Given the description of an element on the screen output the (x, y) to click on. 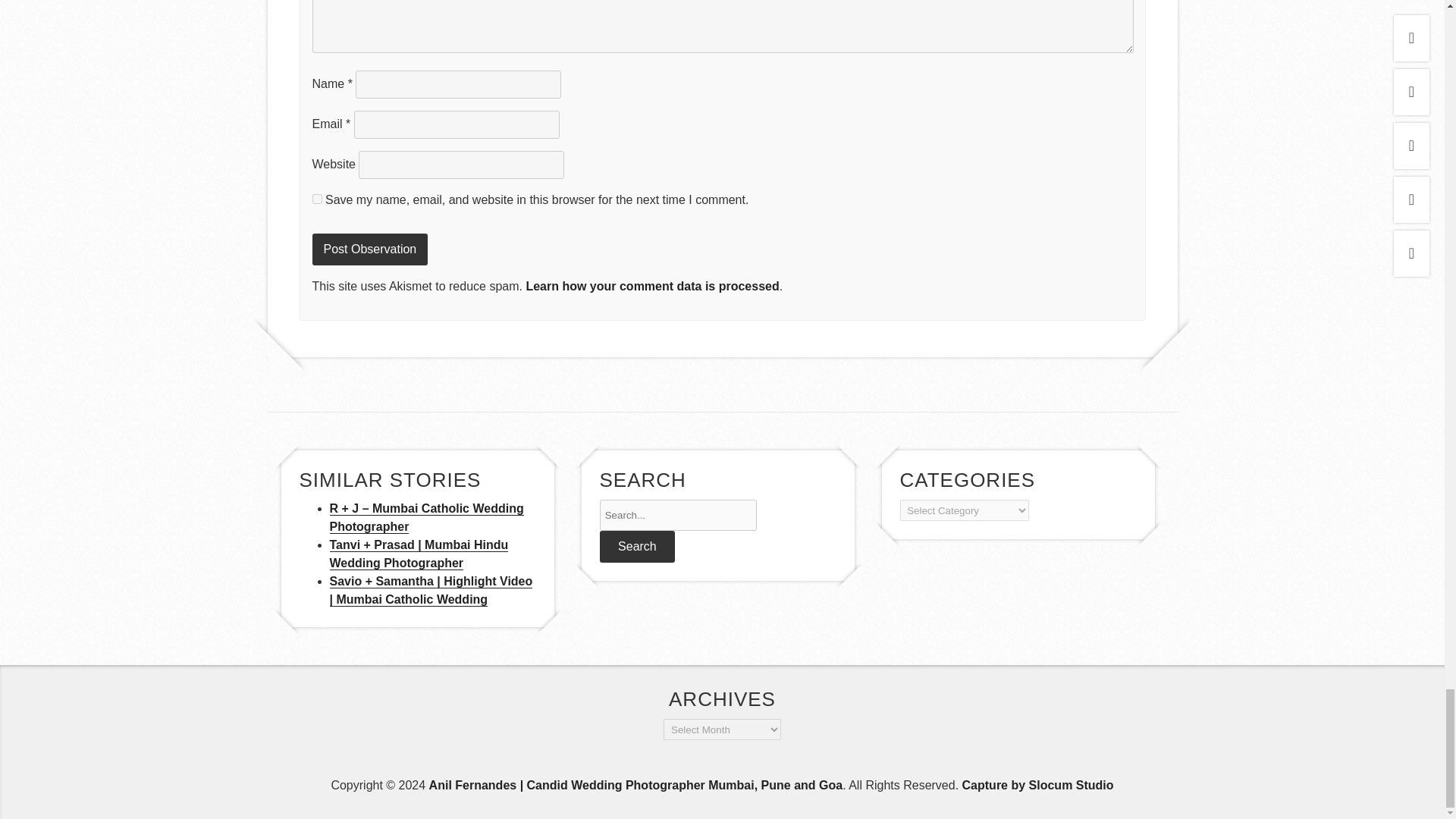
yes (317, 198)
Post Observation (370, 249)
Search (636, 546)
